Given the description of an element on the screen output the (x, y) to click on. 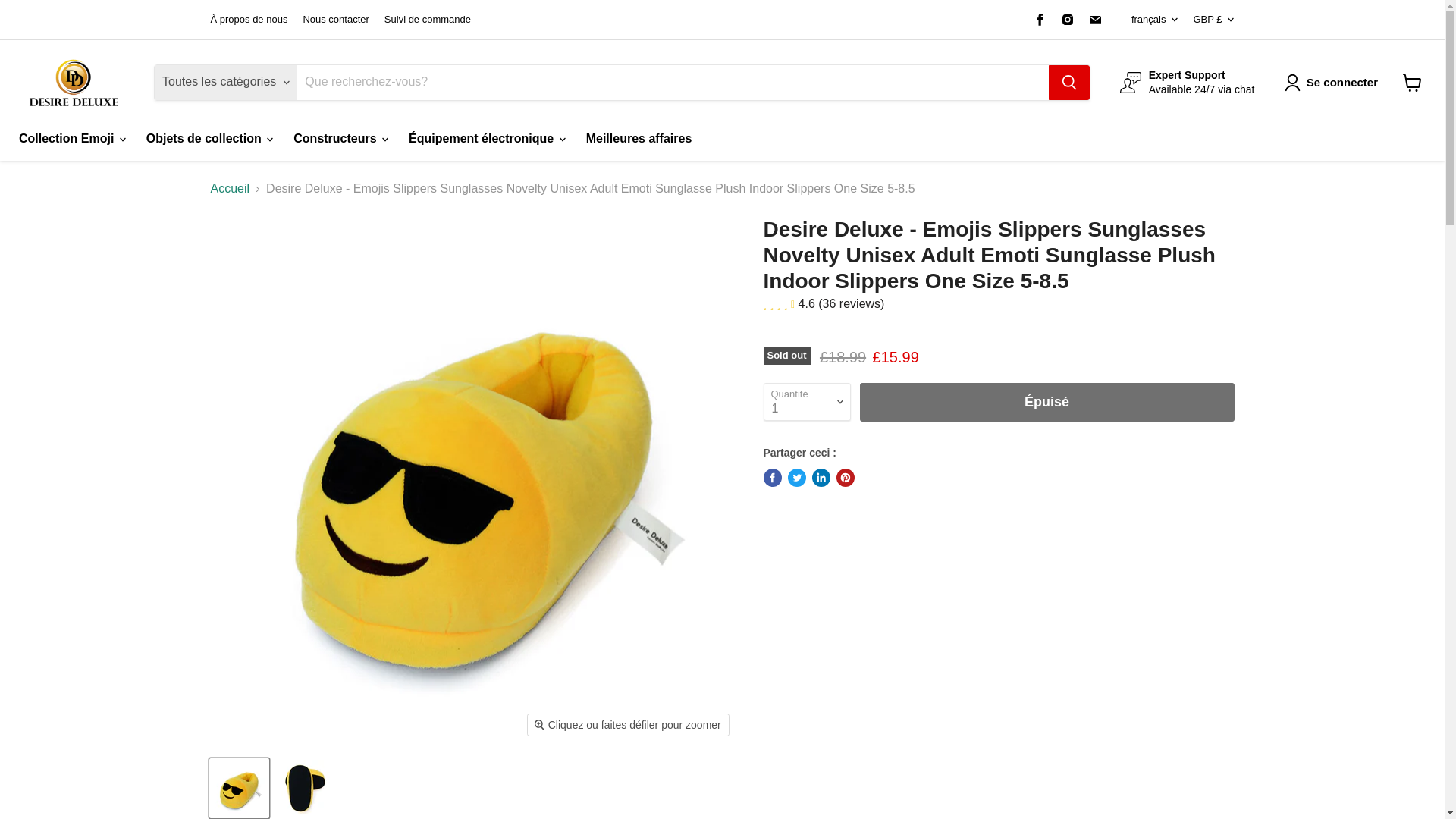
Trouvez-nous sur Email (1094, 19)
Suivi de commande (427, 19)
Email (1094, 19)
Trouvez-nous sur Facebook (1040, 19)
Nous contacter (335, 19)
Facebook (1040, 19)
Trouvez-nous sur Instagram (1067, 19)
Instagram (1067, 19)
